Given the description of an element on the screen output the (x, y) to click on. 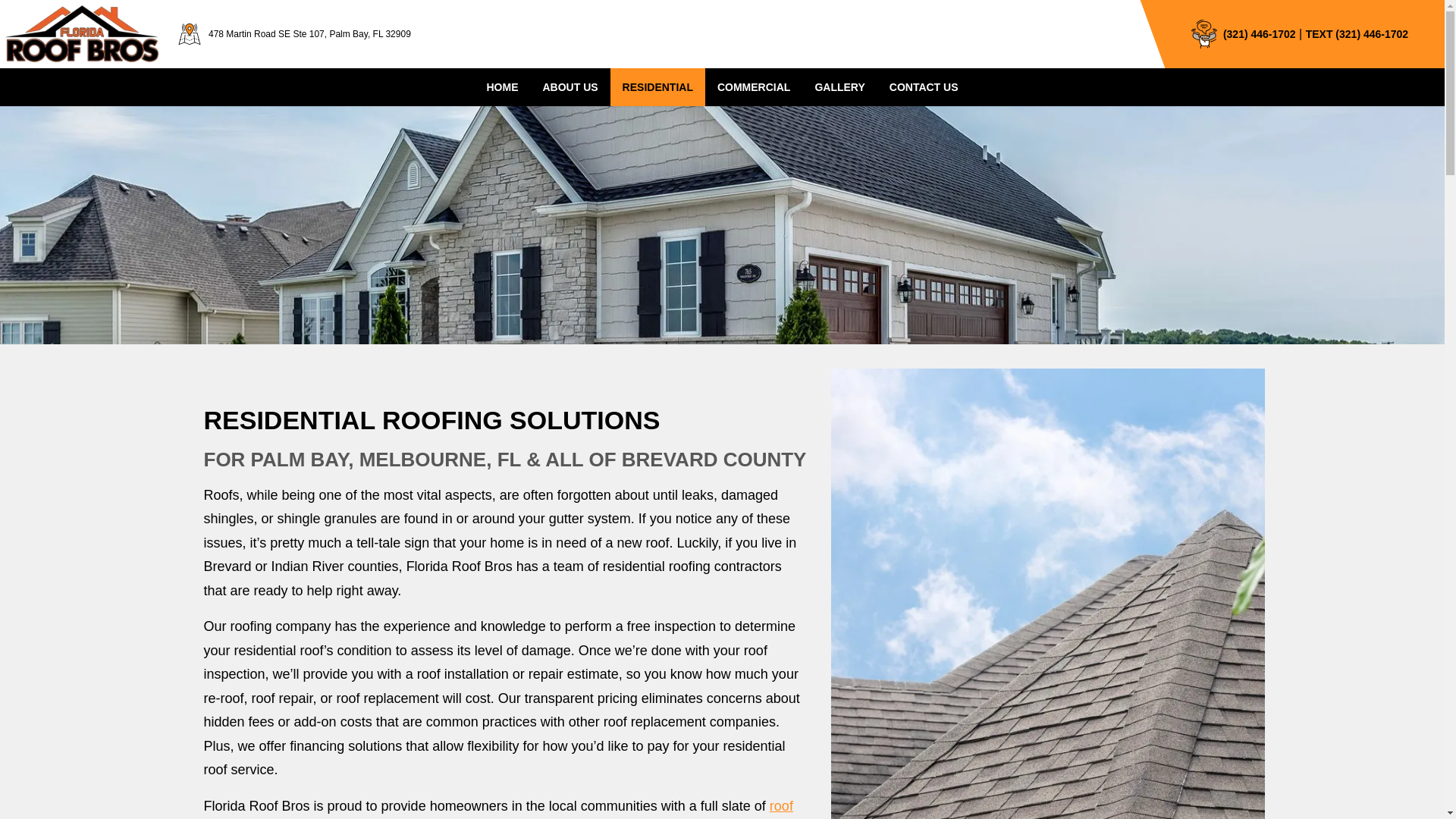
roof repairs (497, 808)
RESIDENTIAL (657, 87)
CONTACT US (924, 87)
GALLERY (839, 87)
ABOUT US (569, 87)
COMMERCIAL (753, 87)
478 Martin Road SE Ste 107, Palm Bay, FL 32909 (292, 33)
HOME (501, 87)
